Given the description of an element on the screen output the (x, y) to click on. 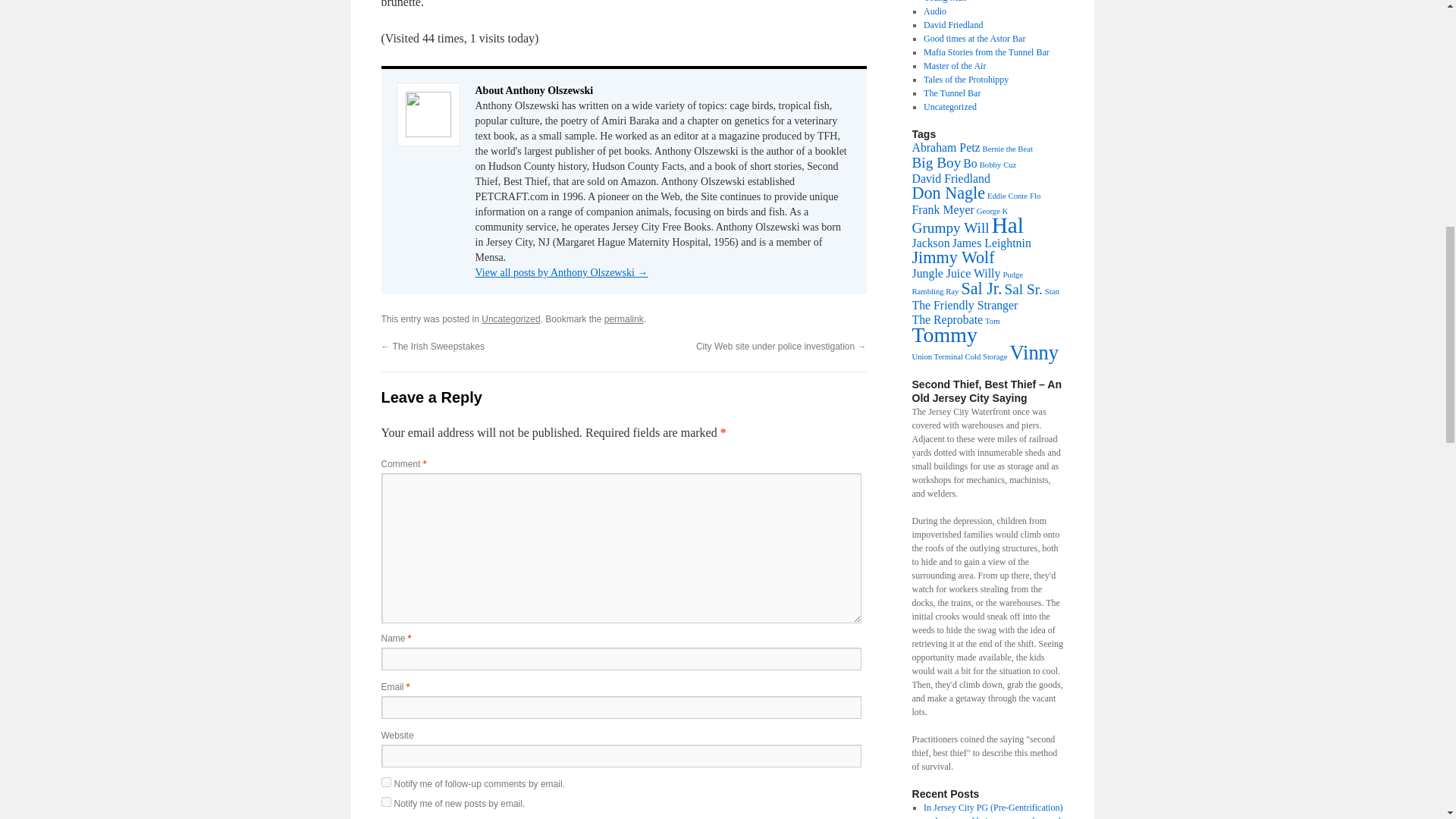
David Friedland (952, 24)
permalink (623, 318)
A Portrait of the Reprobate as a Young Man (980, 1)
Uncategorized (510, 318)
Permalink to Seventh Grade Art Class (623, 318)
Audio (934, 10)
subscribe (385, 782)
subscribe (385, 801)
